Given the description of an element on the screen output the (x, y) to click on. 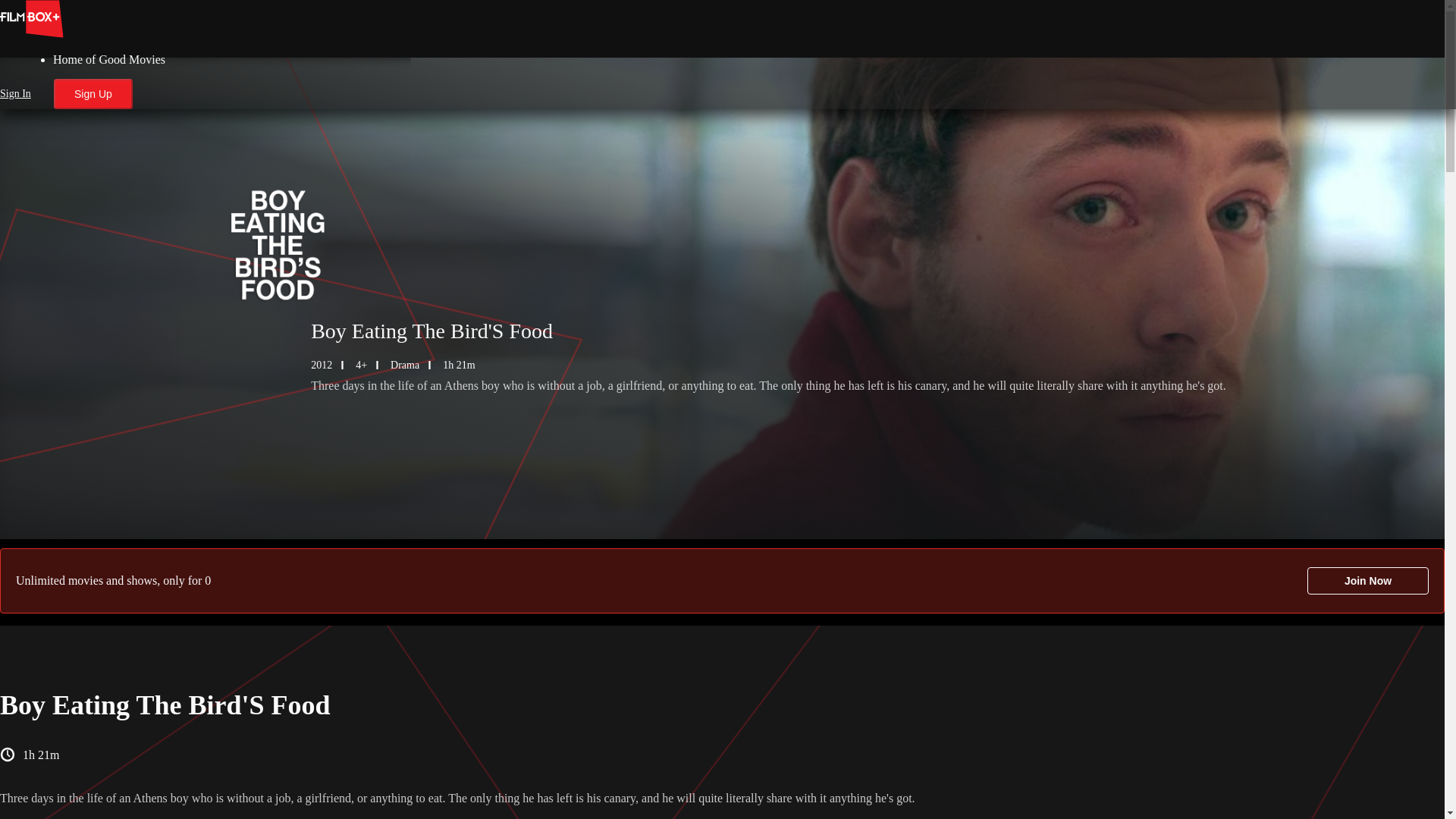
Sign In (15, 93)
Join Now (1367, 580)
Sign Up (92, 93)
